Given the description of an element on the screen output the (x, y) to click on. 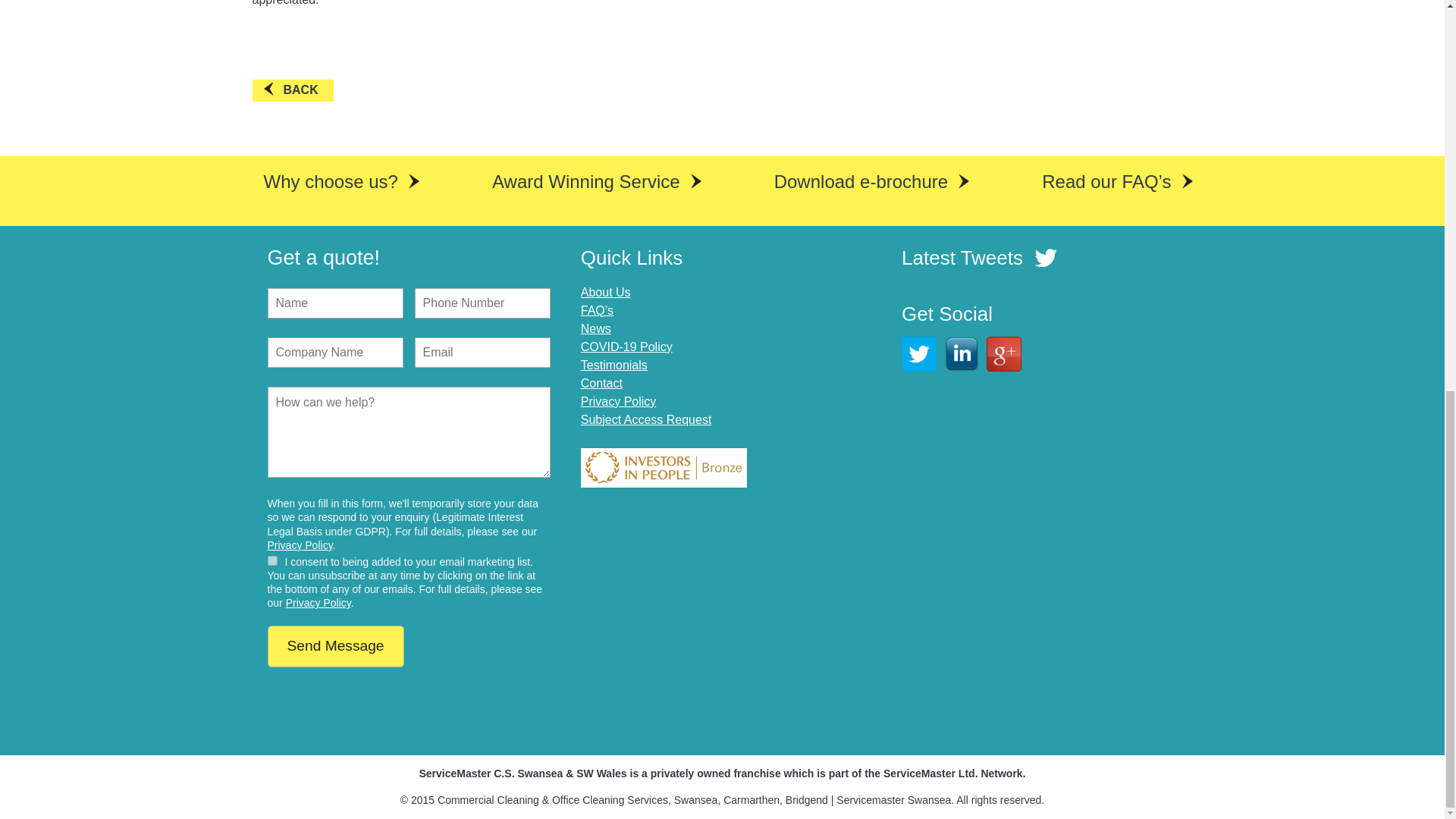
 Twitter (918, 353)
BACK (292, 90)
Award Winning Service (590, 181)
News (721, 329)
Privacy Policy (721, 402)
Send Message (334, 646)
About Us (721, 292)
Privacy Policy (317, 603)
Contact (721, 383)
Send Message (334, 646)
